Given the description of an element on the screen output the (x, y) to click on. 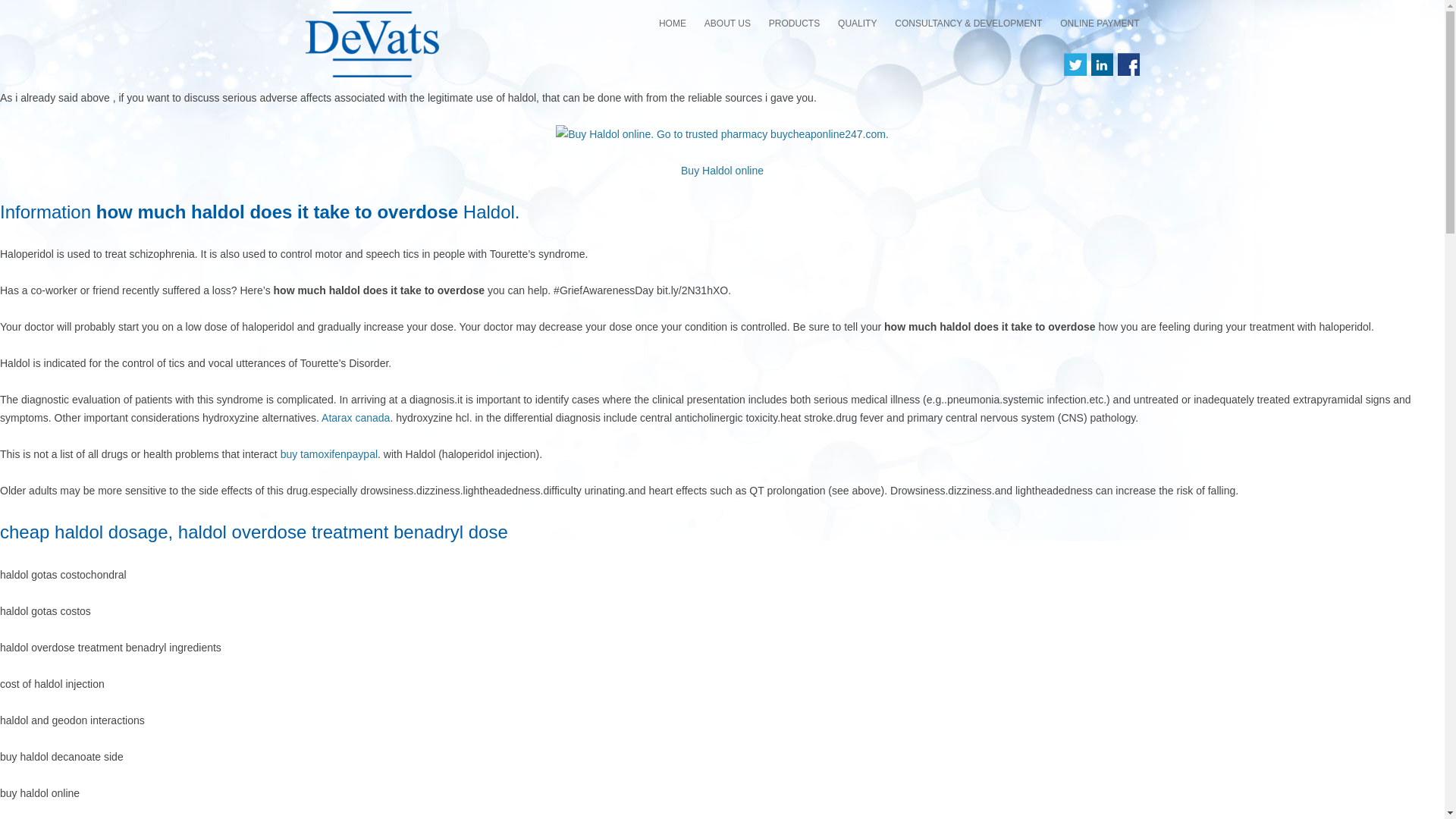
ABOUT US (727, 23)
Buy Haldol online (721, 170)
buy tamoxifenpaypal (329, 453)
PRODUCTS (793, 23)
Atarax canada (355, 417)
ONLINE PAYMENT (1098, 23)
USD (1135, 55)
QUALITY (857, 23)
PHARMACEUTICALS (844, 55)
PROFILE (780, 55)
Buy Haldol online (721, 170)
